Given the description of an element on the screen output the (x, y) to click on. 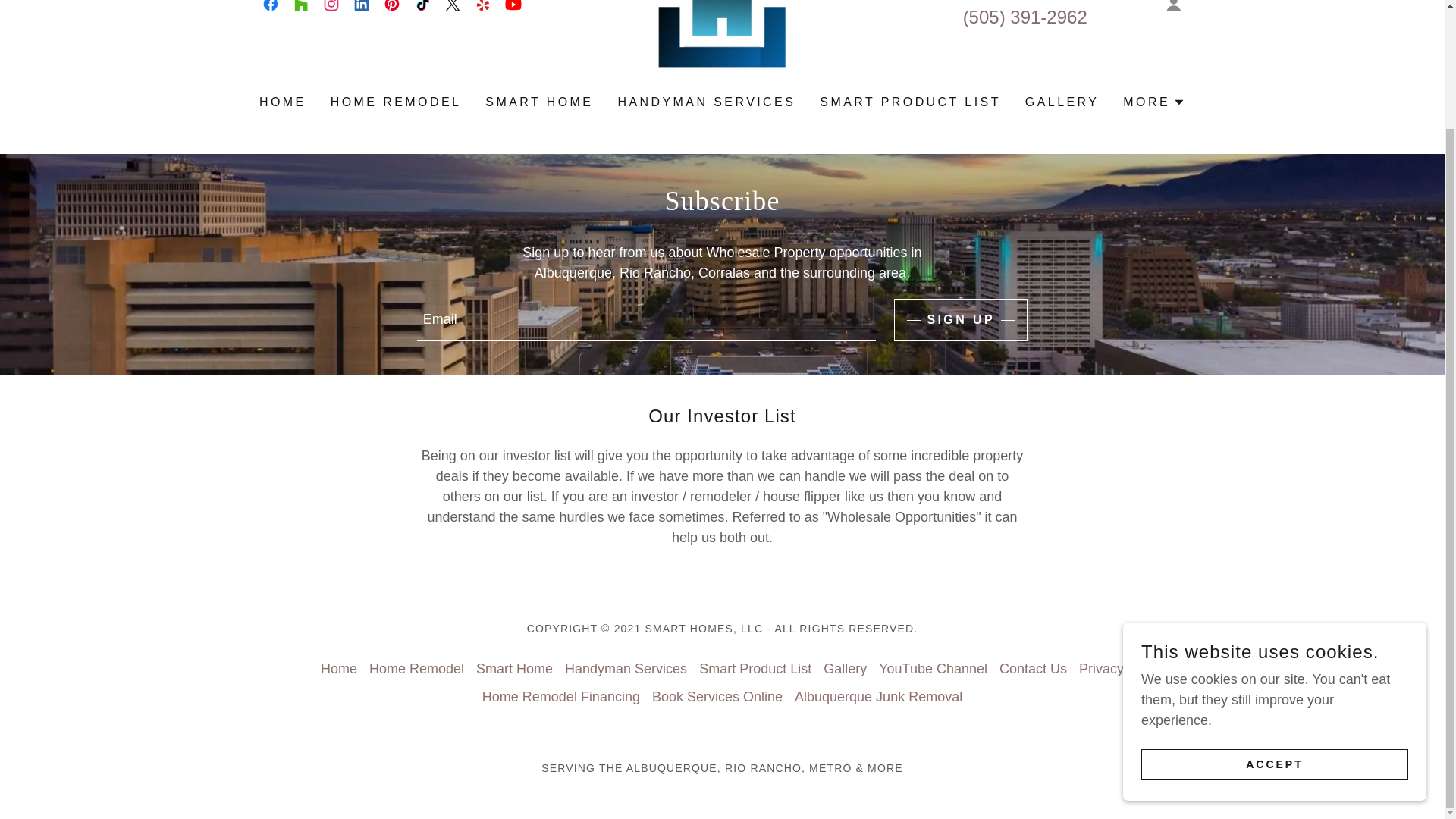
HANDYMAN SERVICES (705, 102)
HOME (282, 102)
Smart Homes, LLC (722, 4)
MORE (1153, 102)
GALLERY (1061, 102)
SMART HOME (538, 102)
SMART PRODUCT LIST (910, 102)
HOME REMODEL (395, 102)
